Given the description of an element on the screen output the (x, y) to click on. 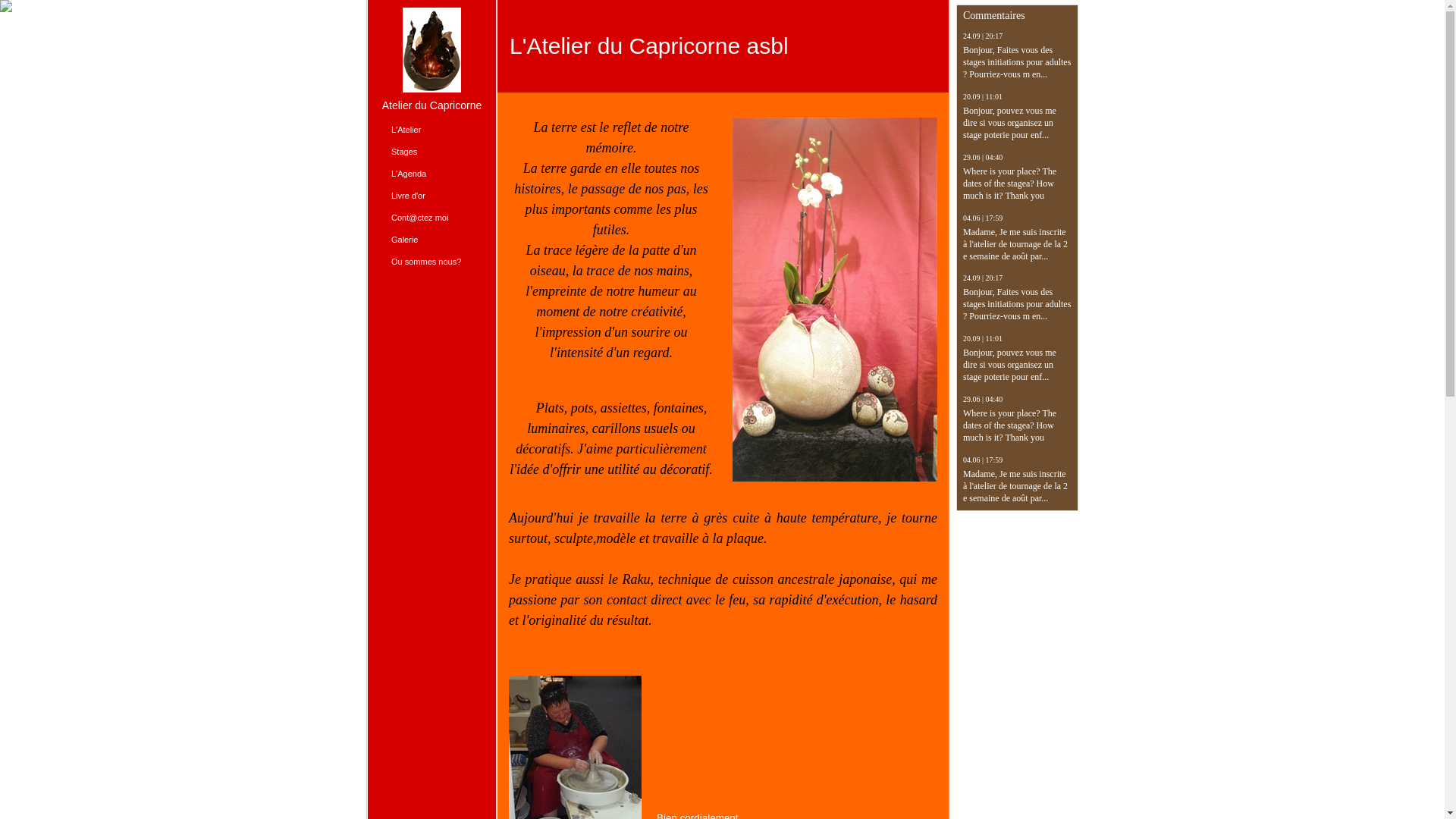
Livre d'or Element type: text (431, 195)
Stages Element type: text (431, 151)
Cont@ctez moi Element type: text (431, 217)
Ou sommes nous? Element type: text (431, 261)
L'Agenda Element type: text (431, 173)
L'Atelier Element type: text (431, 129)
Galerie Element type: text (431, 239)
